Given the description of an element on the screen output the (x, y) to click on. 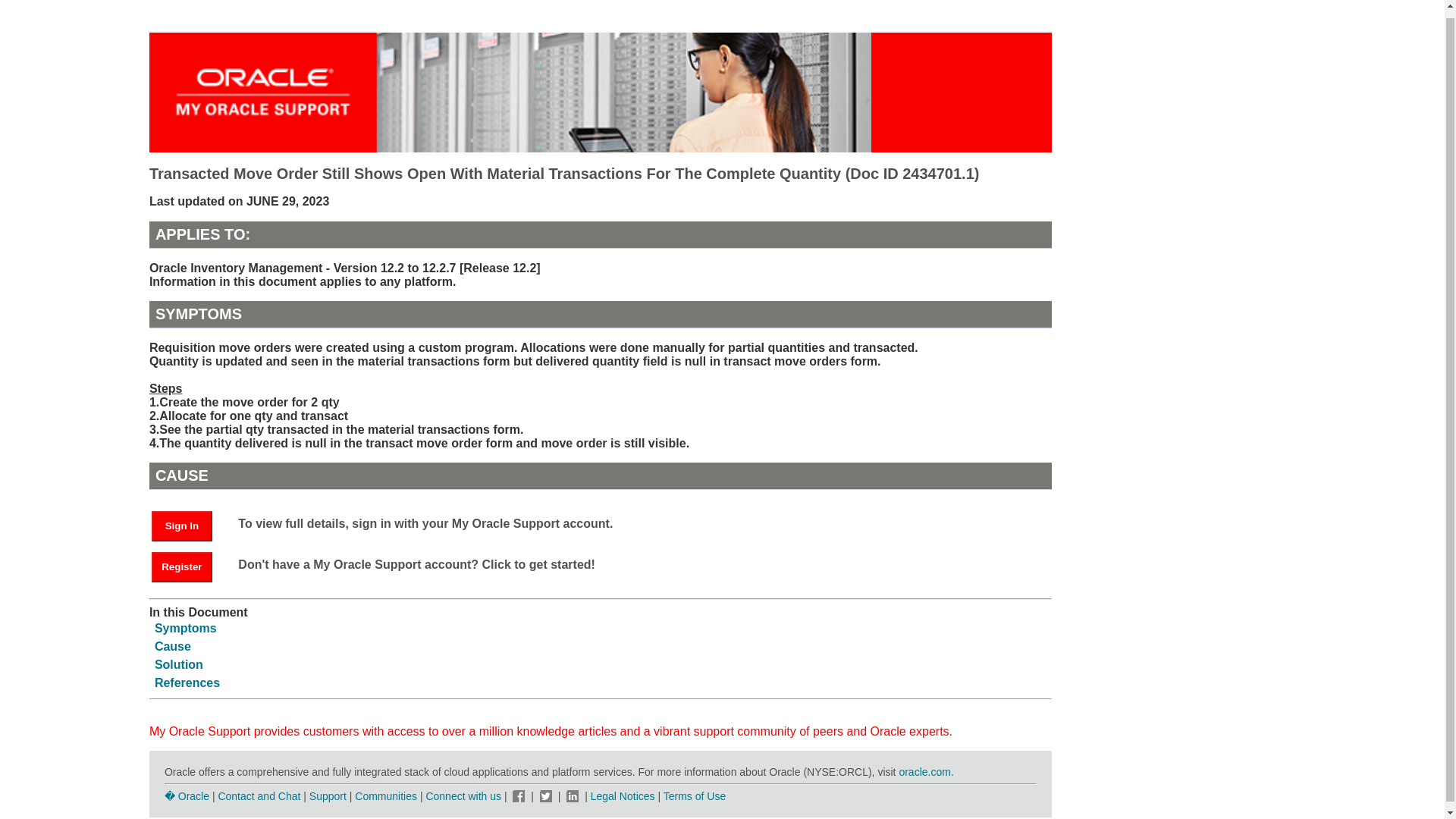
Support (327, 796)
Legal Notices (623, 796)
Contact and Chat (257, 796)
Communities (385, 796)
Register (181, 567)
Connect with us (464, 796)
Terms of Use (694, 796)
Cause (172, 645)
References (186, 682)
Sign In (181, 526)
